Given the description of an element on the screen output the (x, y) to click on. 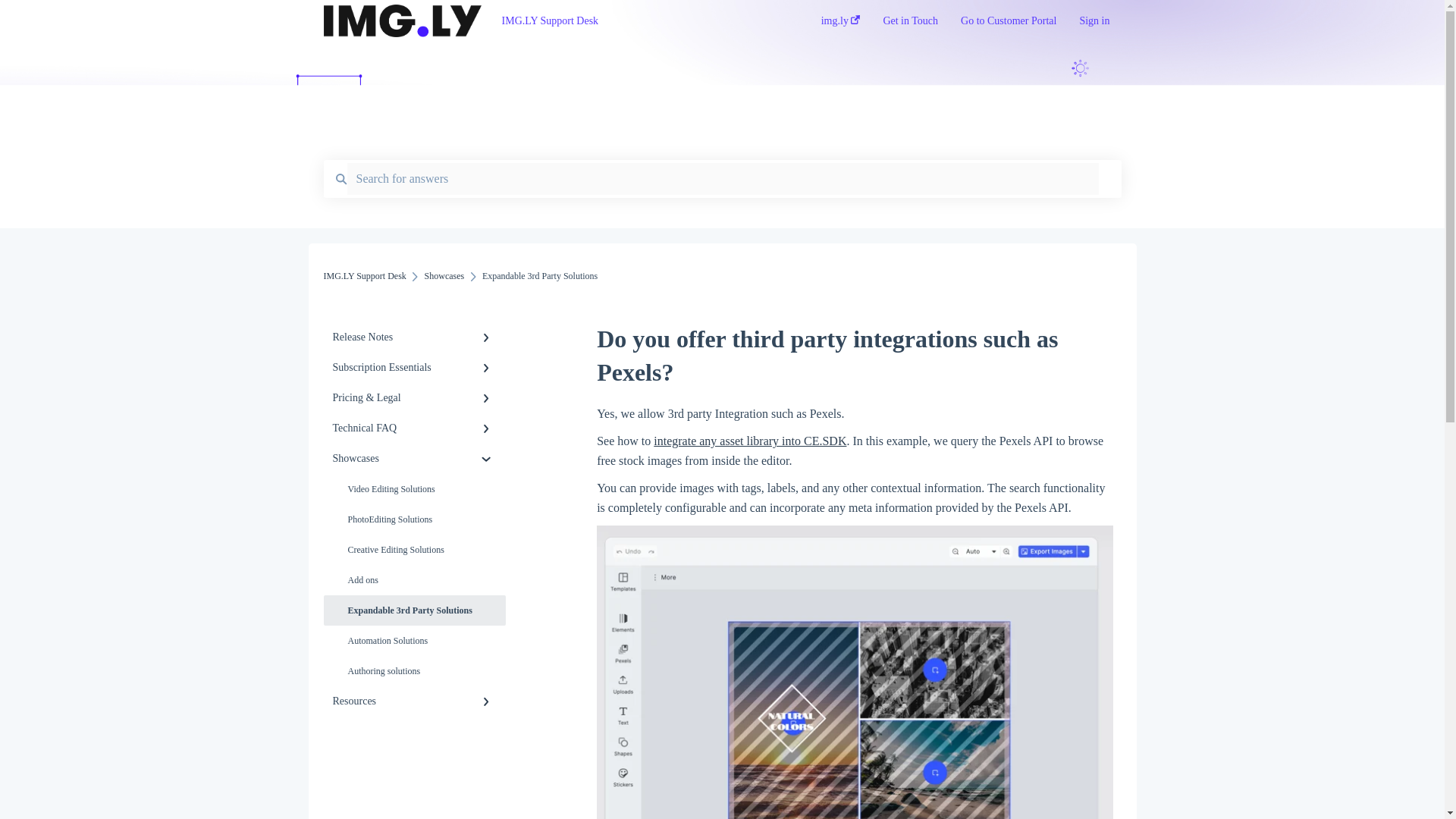
Go to Customer Portal (1008, 25)
Get in Touch (909, 25)
IMG.LY Support Desk (639, 21)
